Given the description of an element on the screen output the (x, y) to click on. 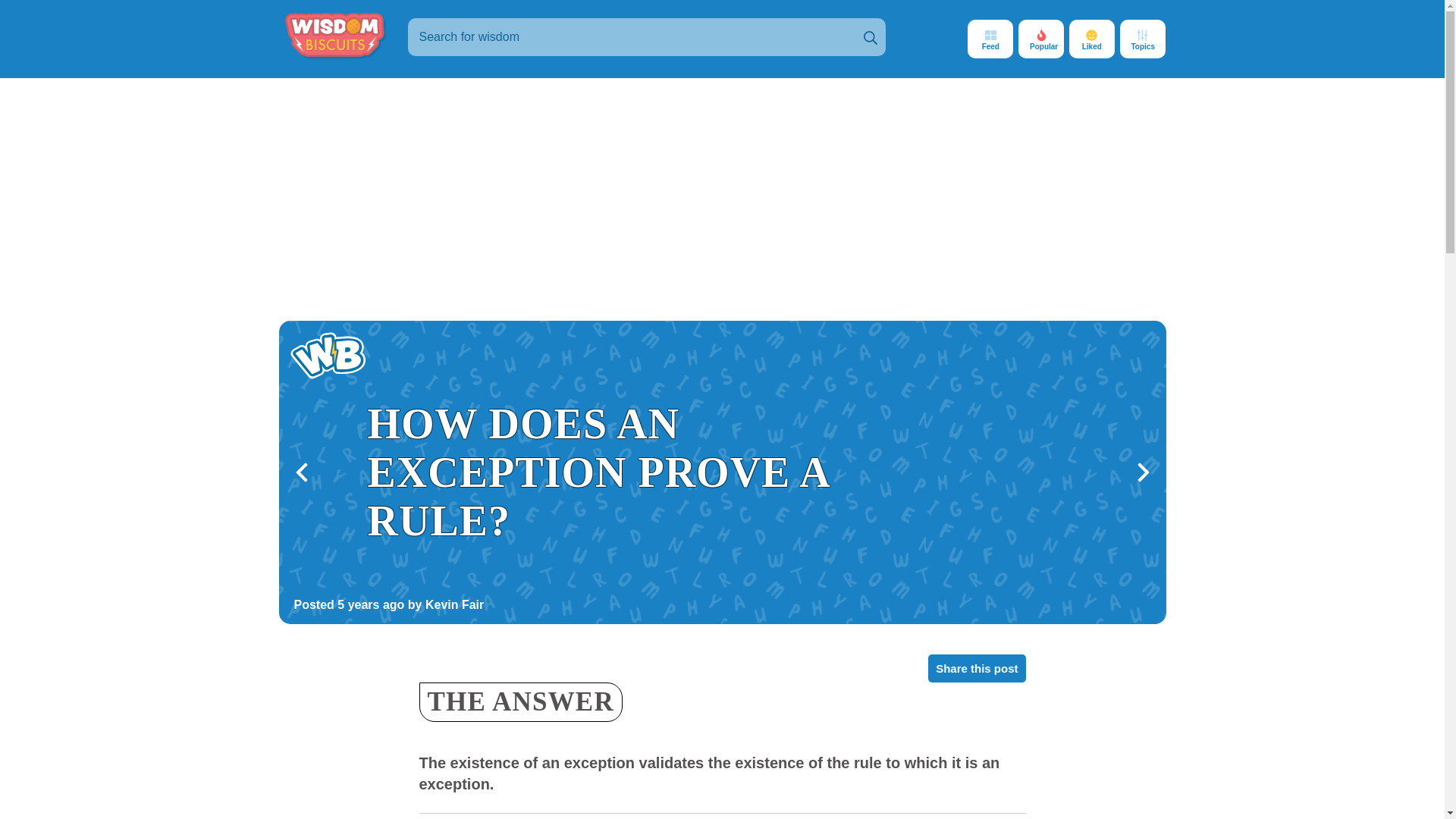
Feed (989, 38)
Popular (1040, 38)
Share this post (976, 668)
Liked (1091, 38)
